Given the description of an element on the screen output the (x, y) to click on. 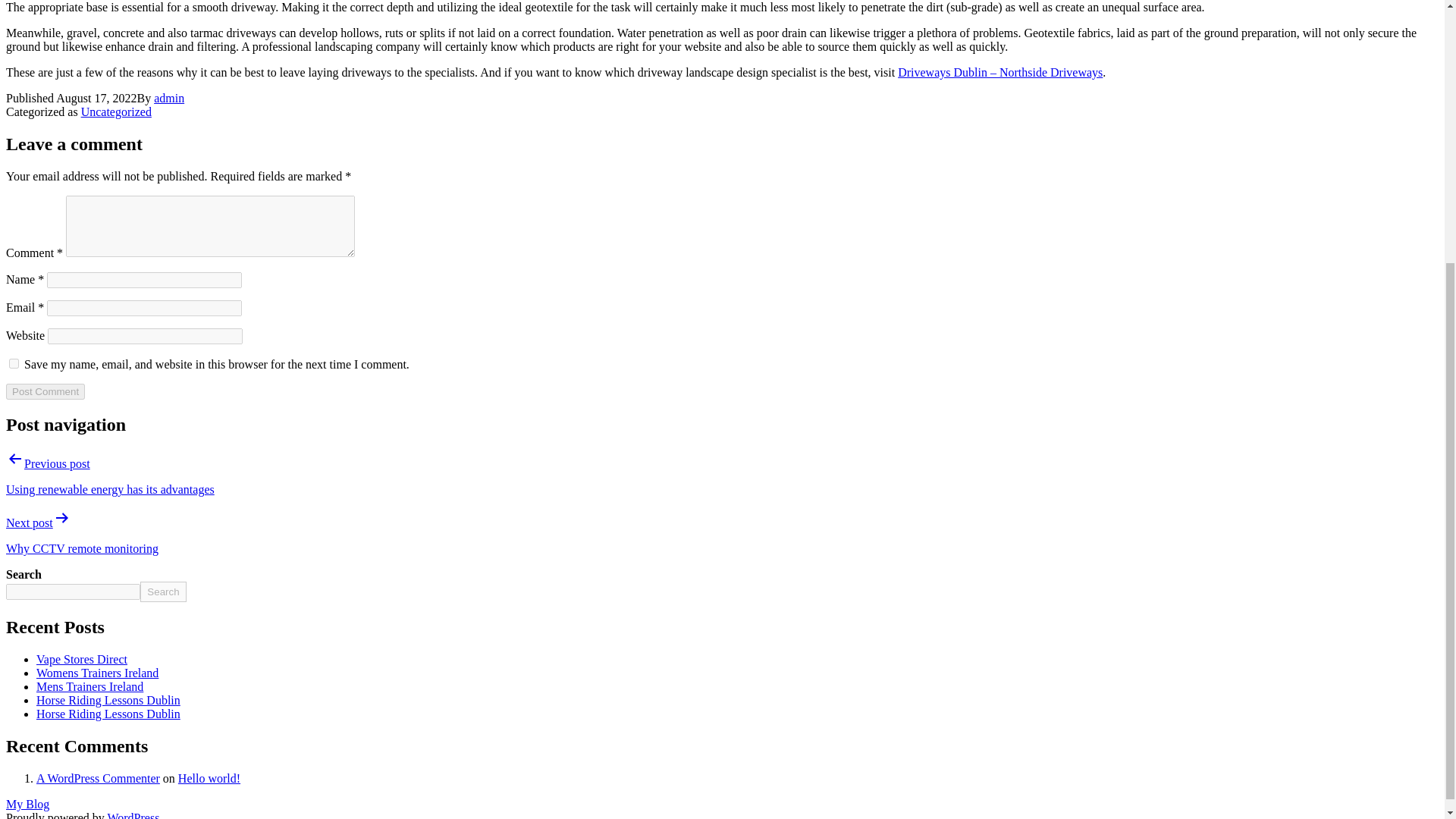
Post Comment (44, 391)
Horse Riding Lessons Dublin (108, 699)
Vape Stores Direct (82, 658)
A WordPress Commenter (98, 778)
Post Comment (44, 391)
Search (162, 591)
Mens Trainers Ireland (89, 686)
admin (169, 97)
My Blog (27, 803)
Horse Riding Lessons Dublin (108, 713)
Hello world! (208, 778)
Uncategorized (116, 111)
Womens Trainers Ireland (97, 672)
yes (13, 363)
